Given the description of an element on the screen output the (x, y) to click on. 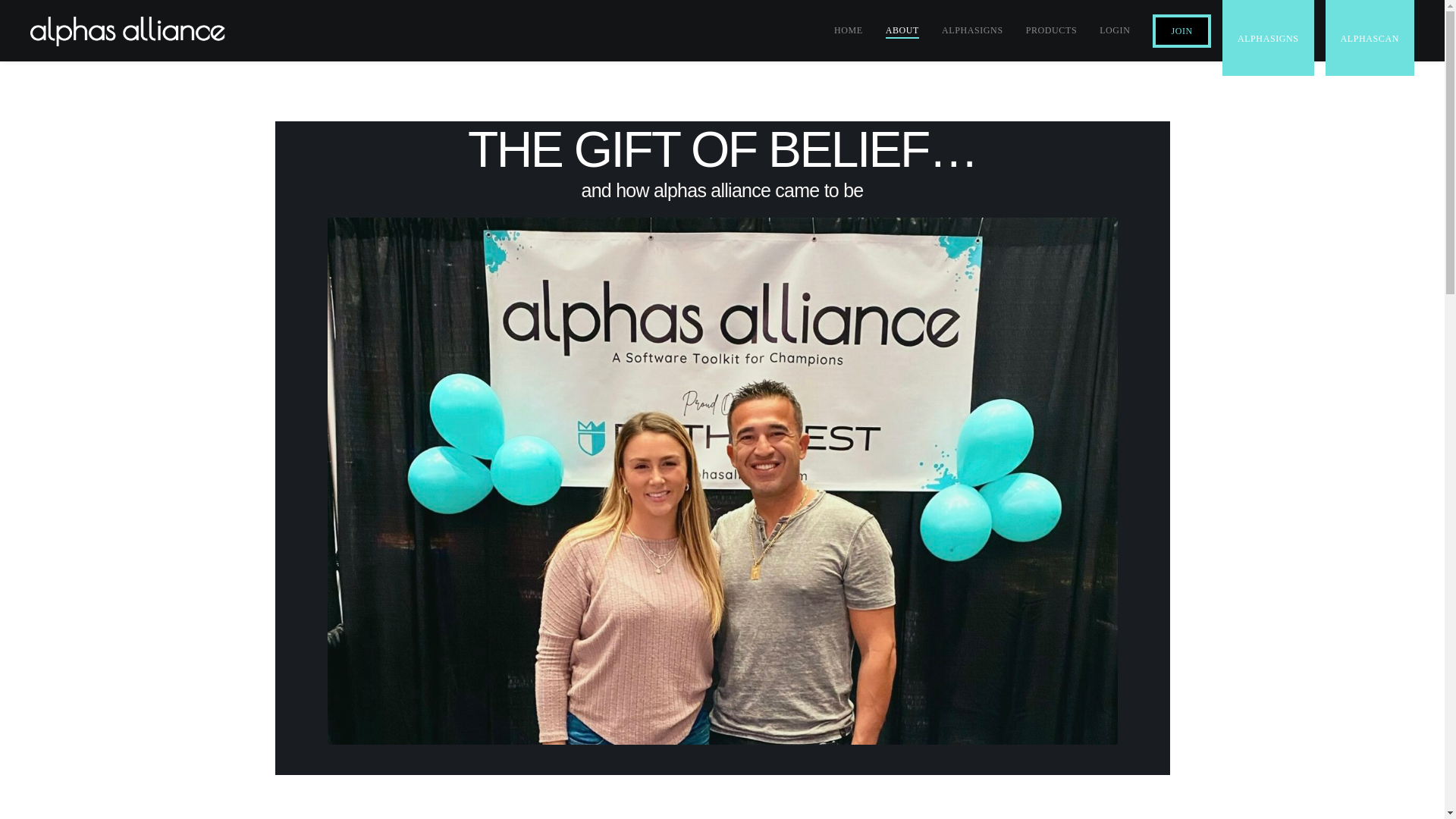
ALPHASIGNS (972, 30)
ALPHASCAN (1368, 38)
ALPHASIGNS (1268, 38)
JOIN (1181, 30)
